Given the description of an element on the screen output the (x, y) to click on. 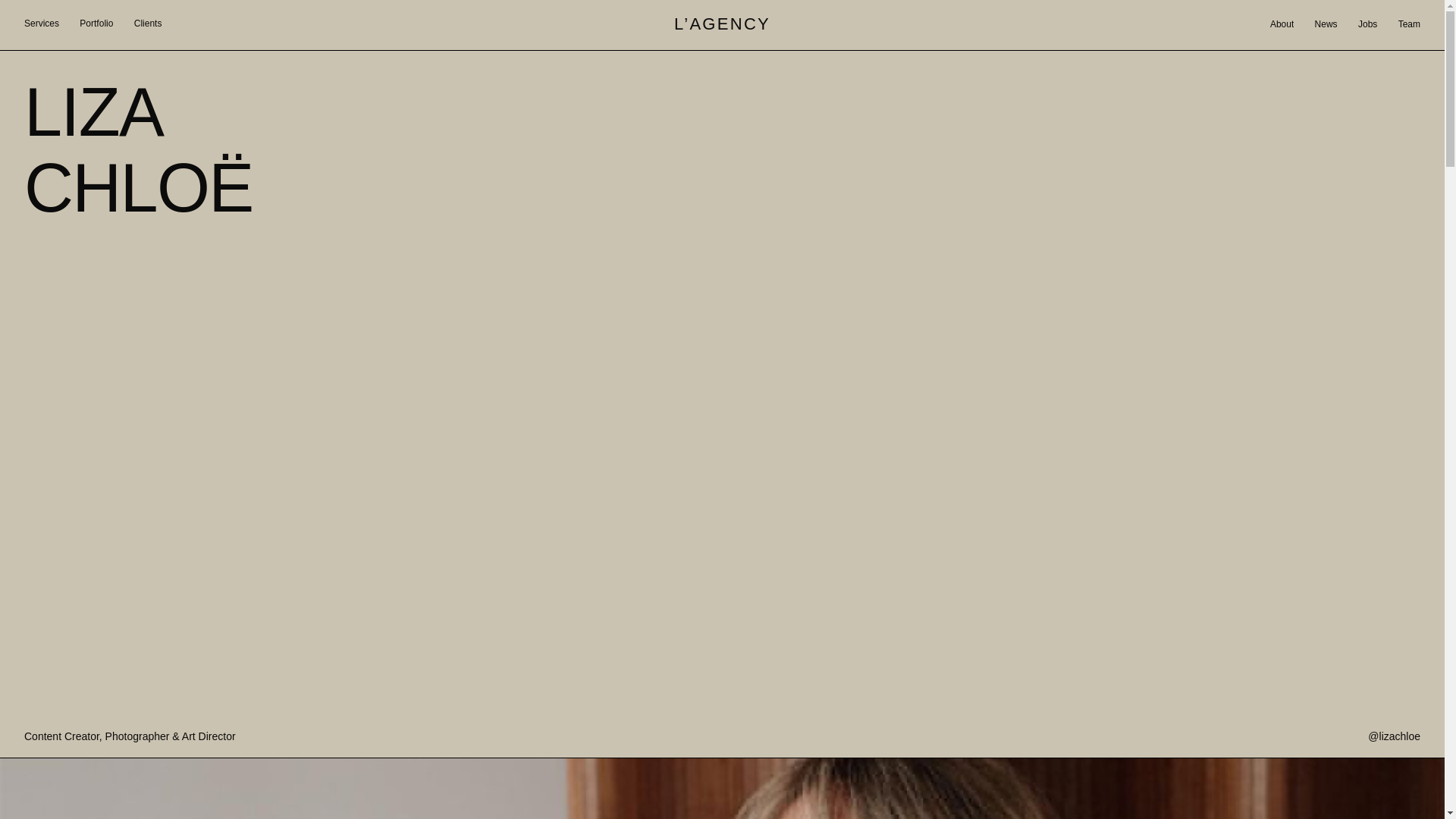
Team (1409, 24)
Services (41, 23)
Portfolio (96, 23)
Clients (147, 23)
Jobs (1367, 24)
About (1281, 24)
News (1326, 24)
